Given the description of an element on the screen output the (x, y) to click on. 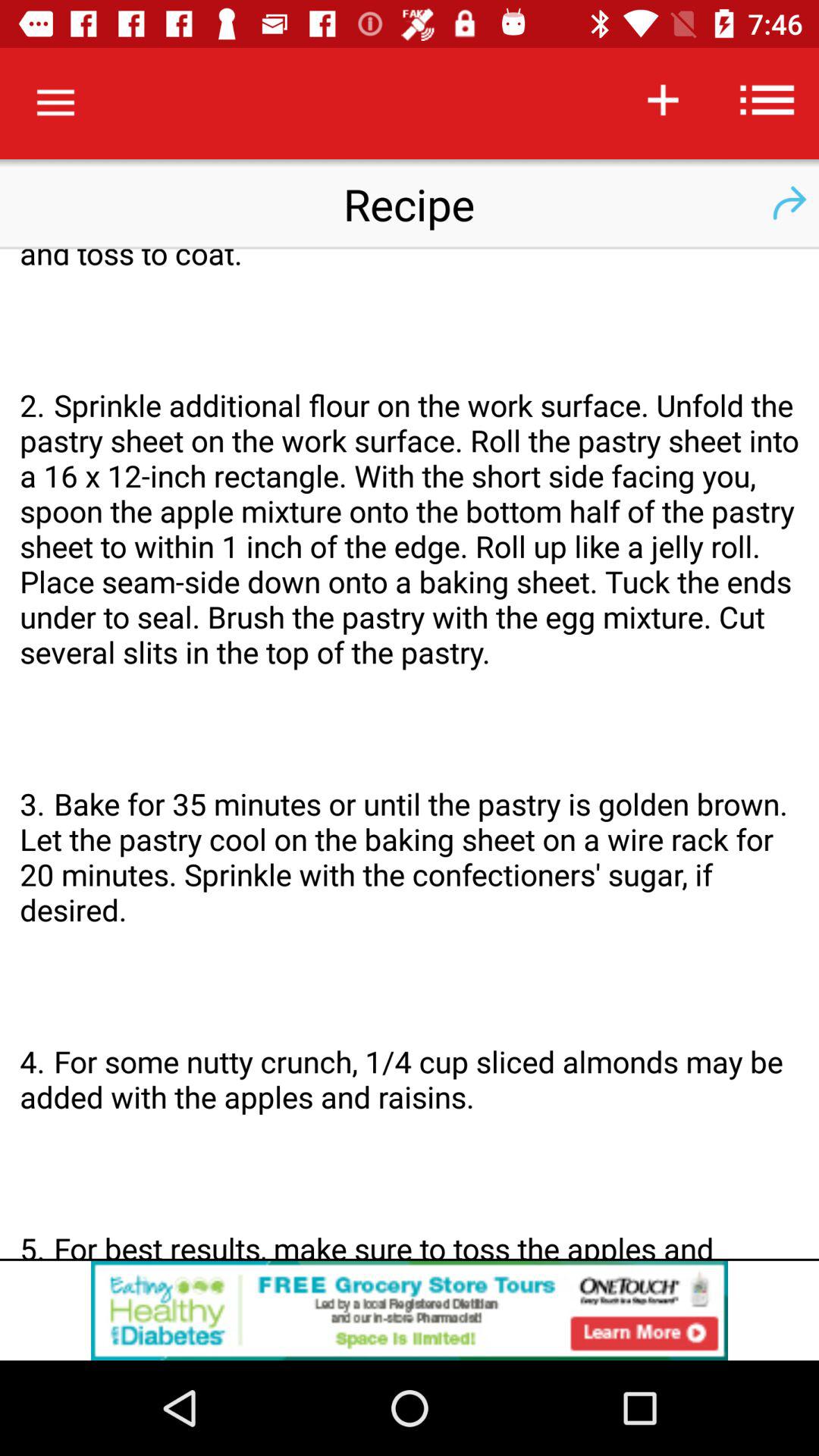
click the advertisement (409, 1310)
